Given the description of an element on the screen output the (x, y) to click on. 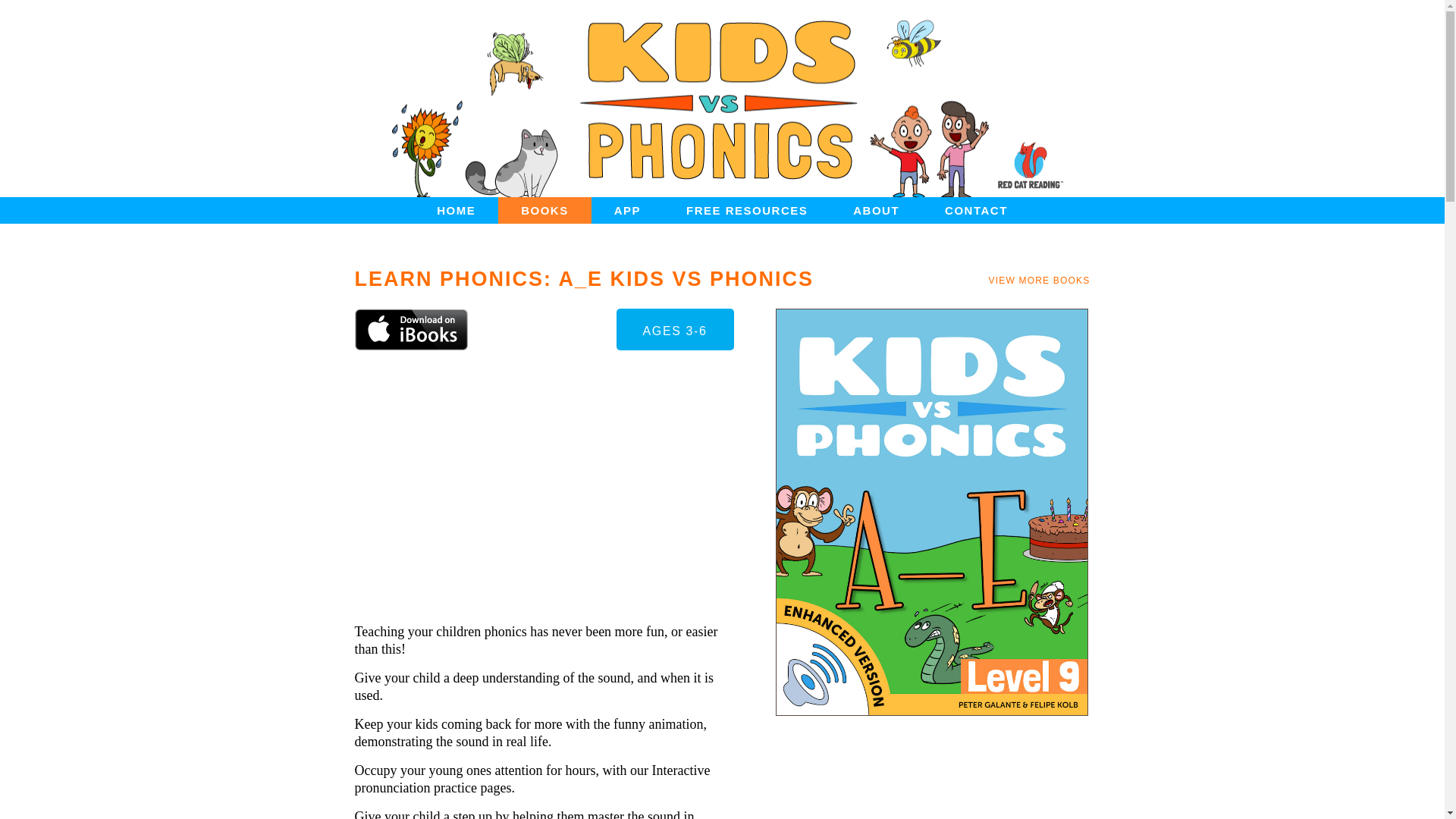
FREE RESOURCES (746, 210)
ABOUT (875, 210)
APP (627, 210)
VIEW MORE BOOKS (1038, 280)
BOOKS (544, 210)
HOME (455, 210)
CONTACT (975, 210)
